Given the description of an element on the screen output the (x, y) to click on. 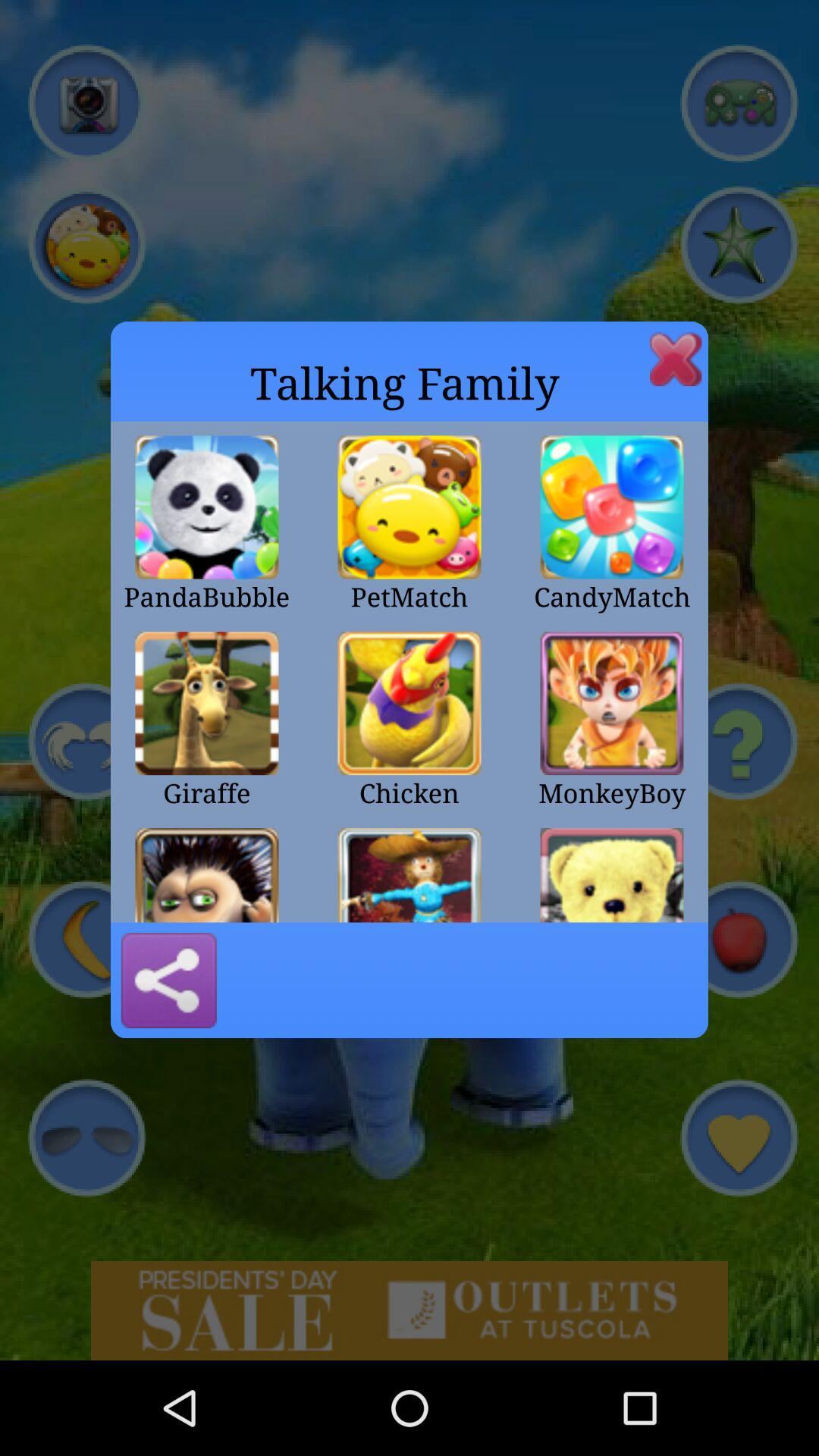
turn on item to the right of the talking family item (675, 359)
